Given the description of an element on the screen output the (x, y) to click on. 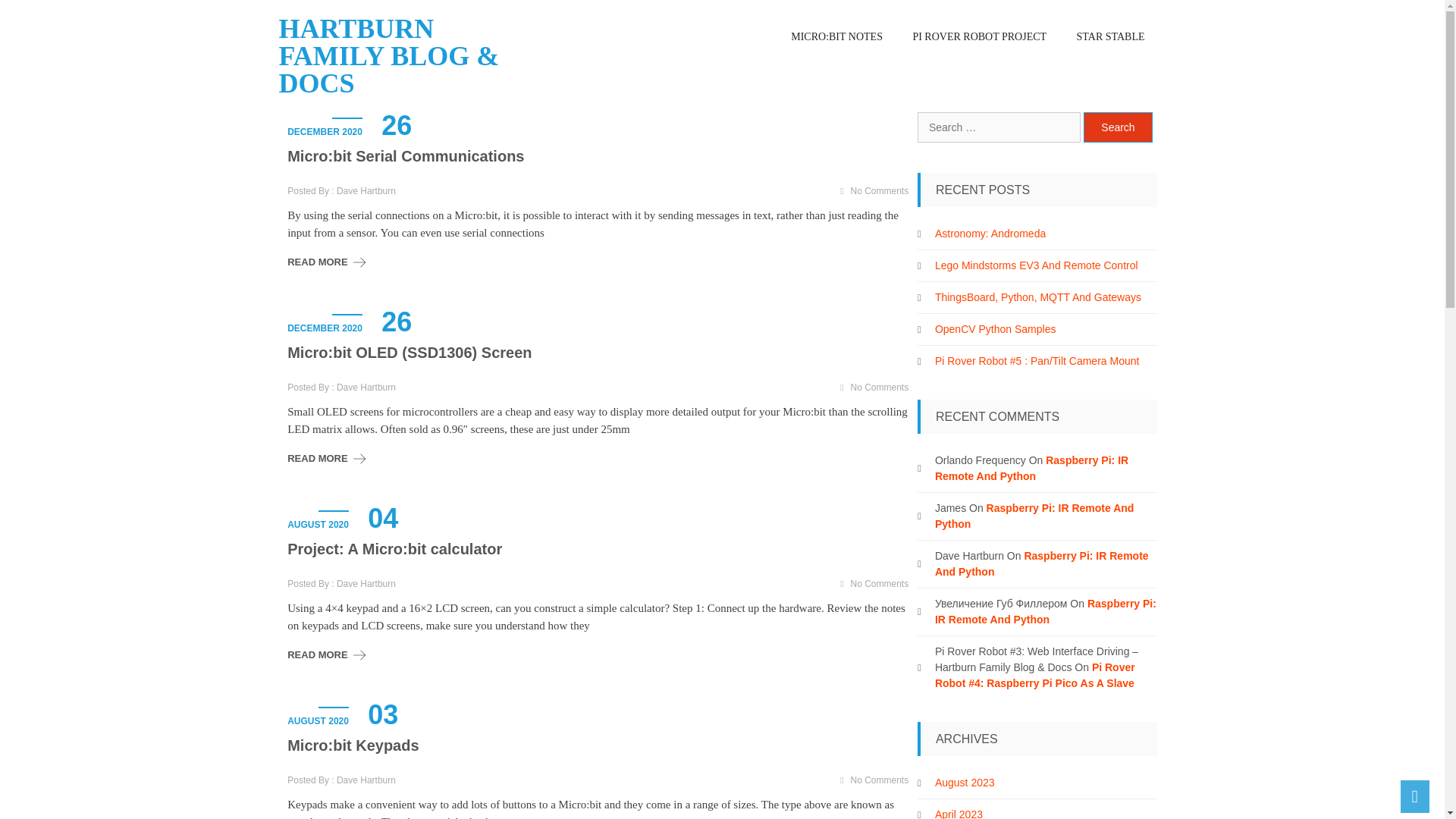
Search (1118, 127)
Search (1118, 127)
Search (1118, 127)
Project: A Micro:bit calculator (597, 548)
STAR STABLE (1118, 36)
No Comments (879, 583)
READ MORE (316, 458)
Micro:bit Serial Communications (597, 156)
No Comments (879, 387)
MICRO:BIT NOTES (845, 36)
PI ROVER ROBOT PROJECT (987, 36)
Micro:bit Keypads (597, 745)
READ MORE (316, 261)
READ MORE (316, 654)
No Comments (879, 190)
